Given the description of an element on the screen output the (x, y) to click on. 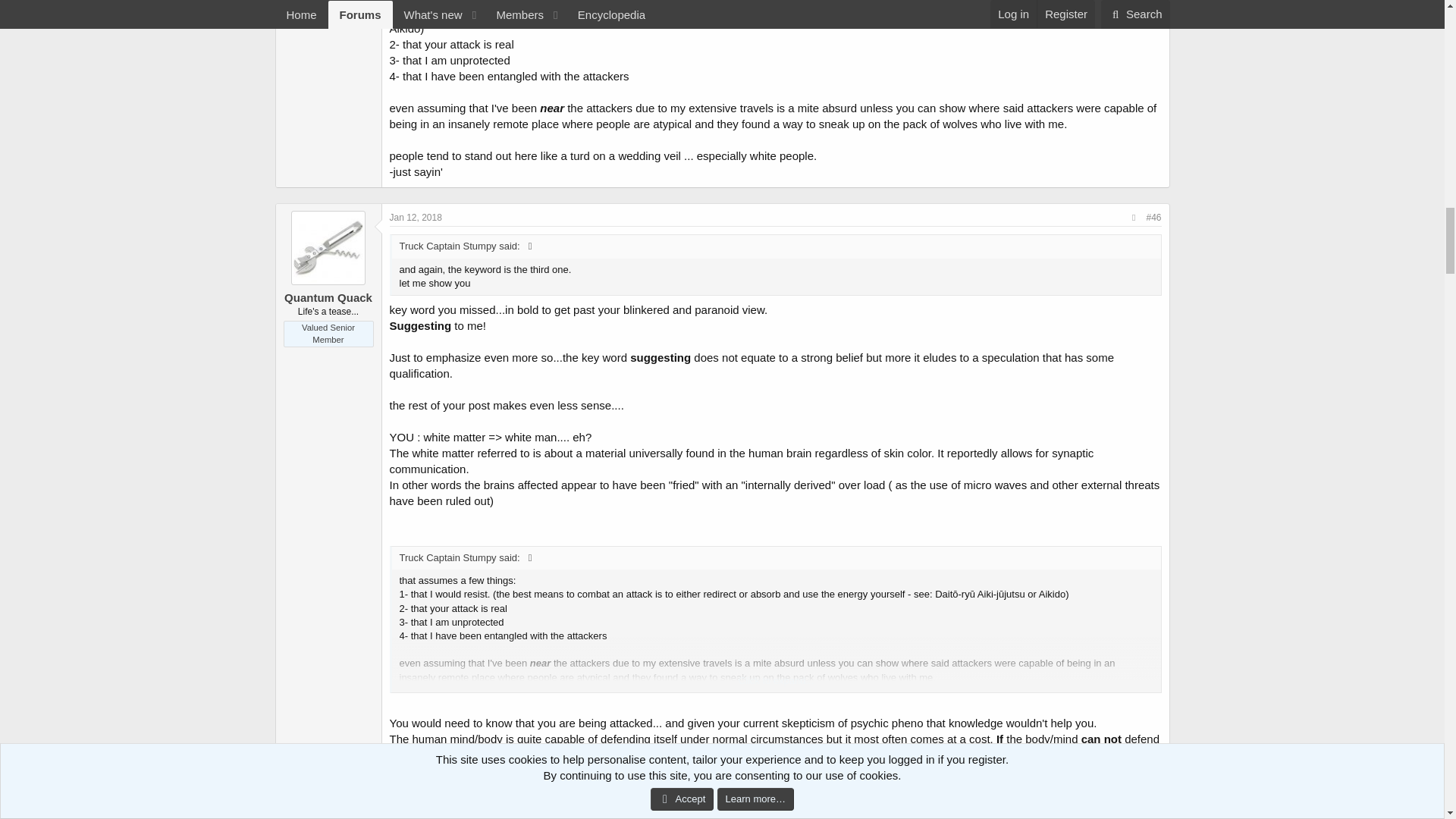
Jan 12, 2018 at 12:51 AM (416, 217)
